Given the description of an element on the screen output the (x, y) to click on. 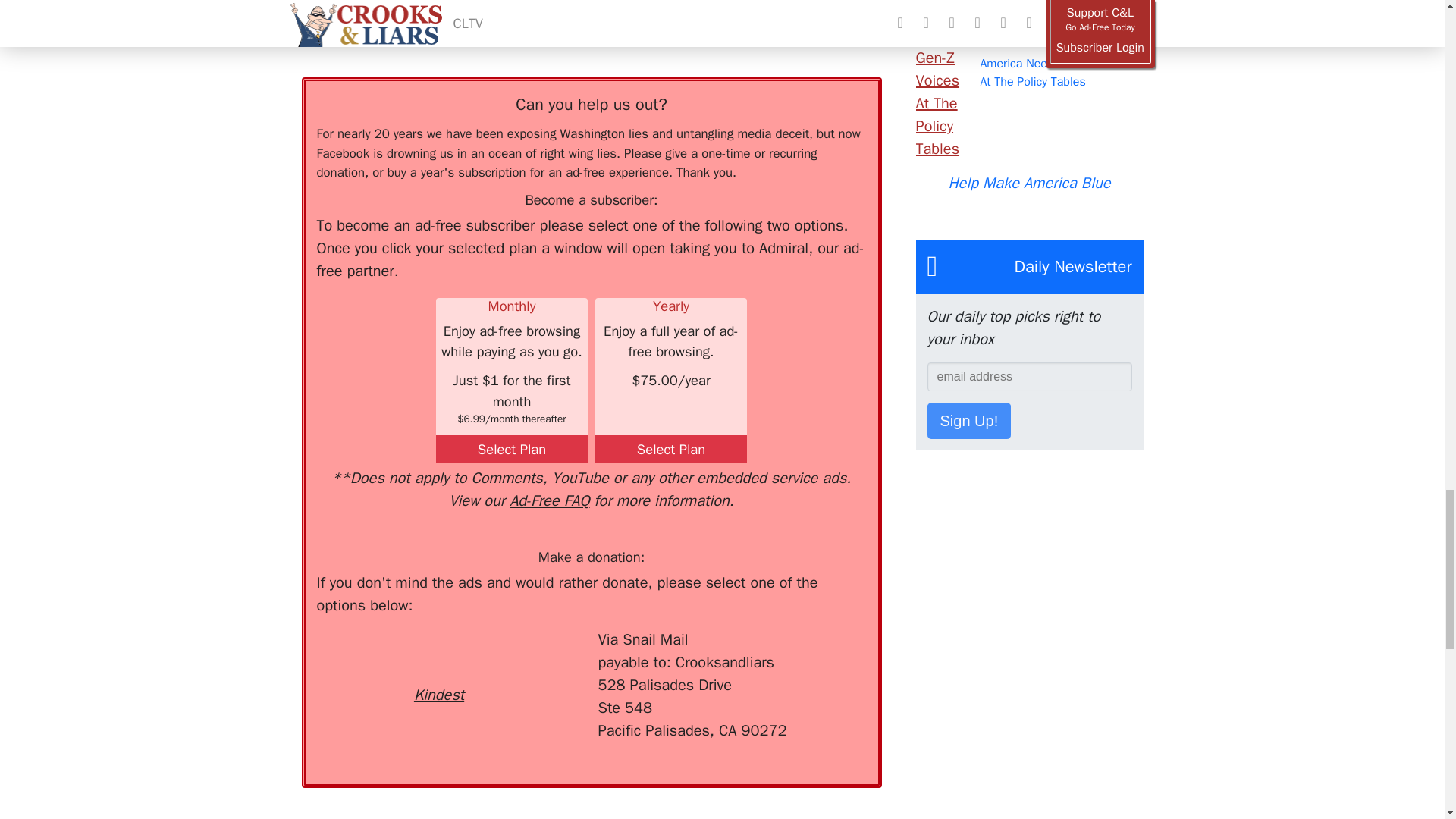
Donate via Kindest (438, 667)
Ad-Free FAQ (549, 500)
Donate via PayPal (540, 655)
